Given the description of an element on the screen output the (x, y) to click on. 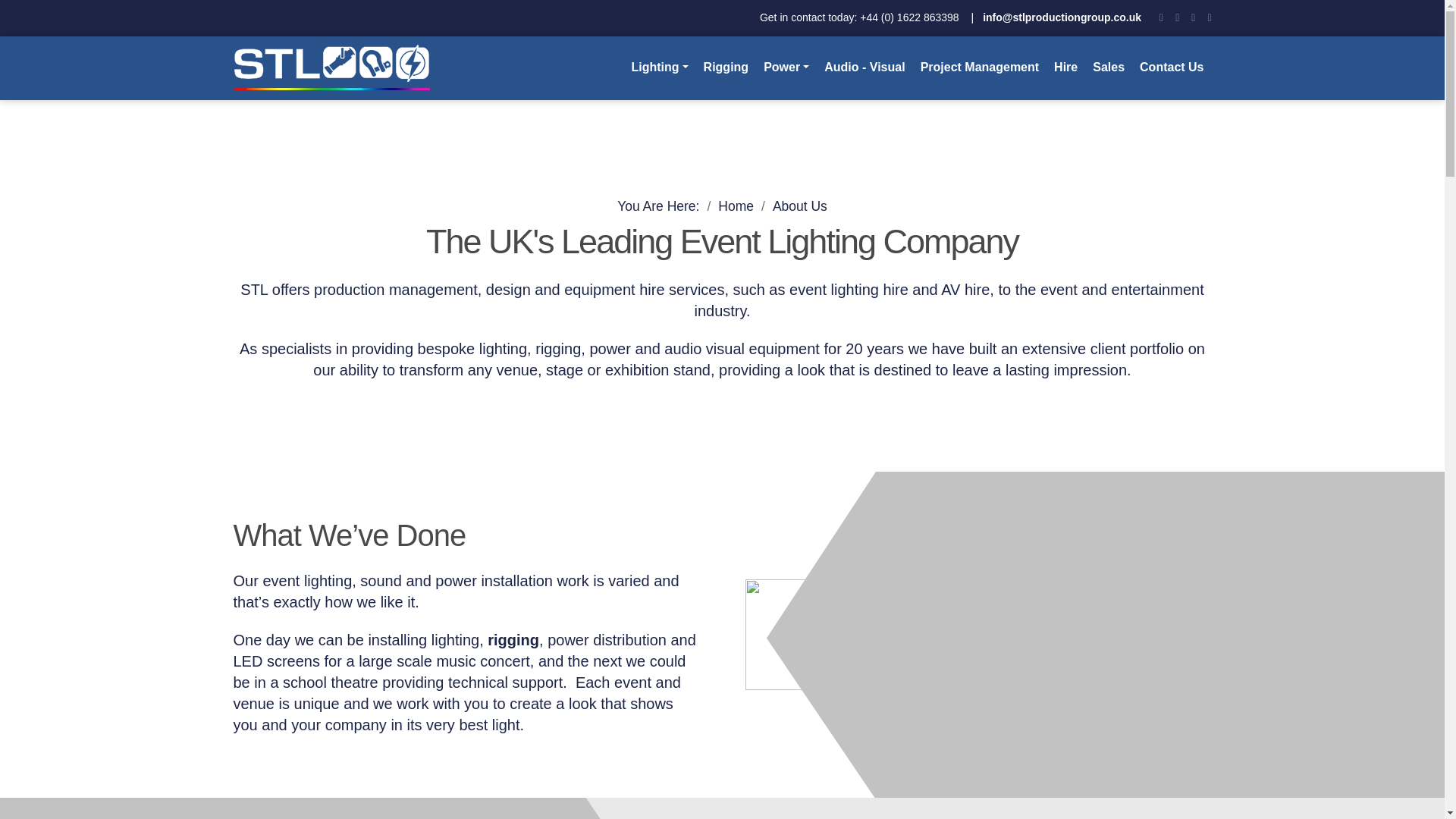
Contact Us (1171, 67)
Home (735, 206)
Project Management (979, 67)
Rigging (726, 67)
Power (785, 67)
Audio - Visual (864, 67)
hire rigging (512, 639)
Lighting (659, 67)
